Given the description of an element on the screen output the (x, y) to click on. 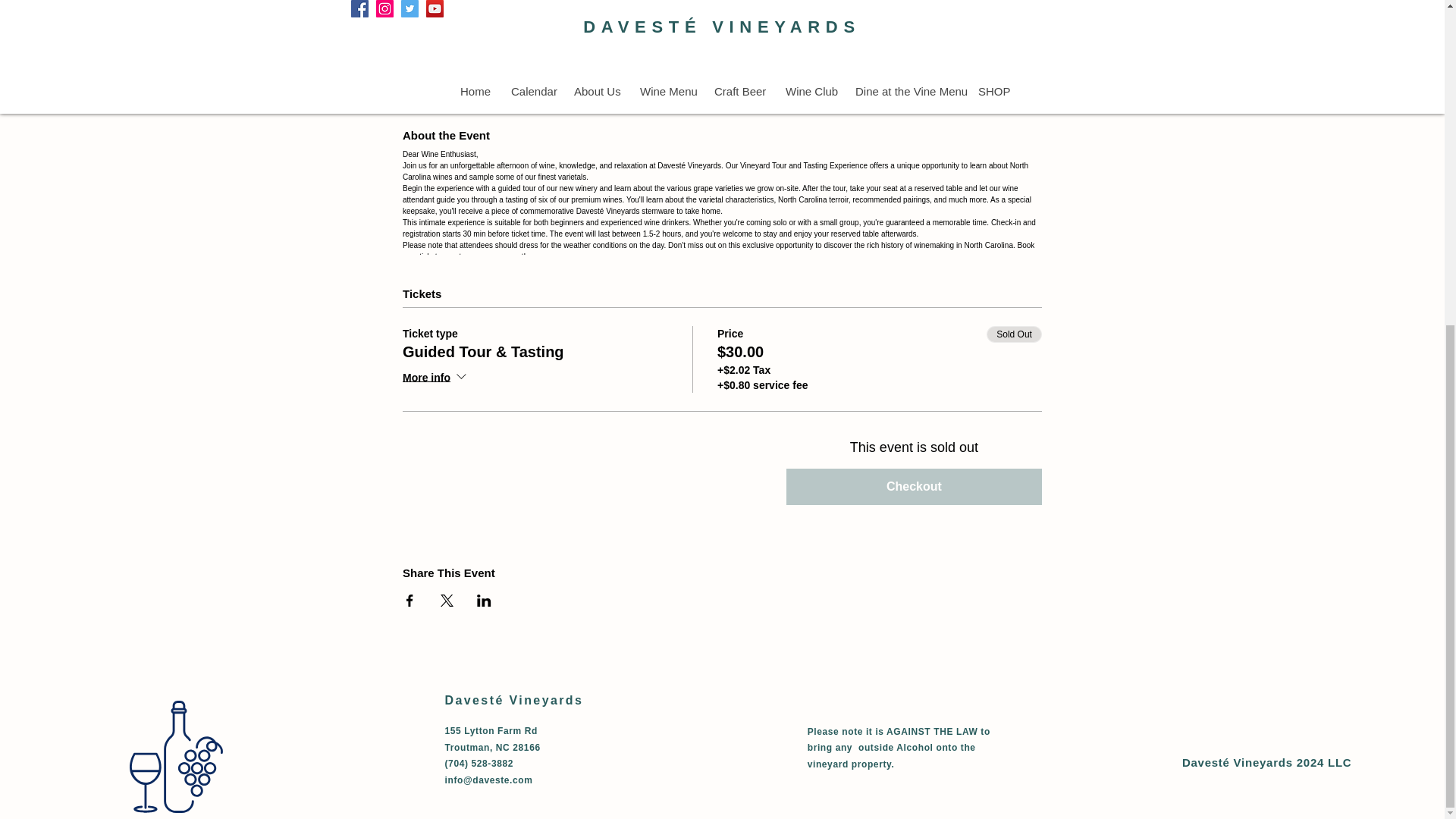
More info (435, 378)
Checkout (914, 486)
